Given the description of an element on the screen output the (x, y) to click on. 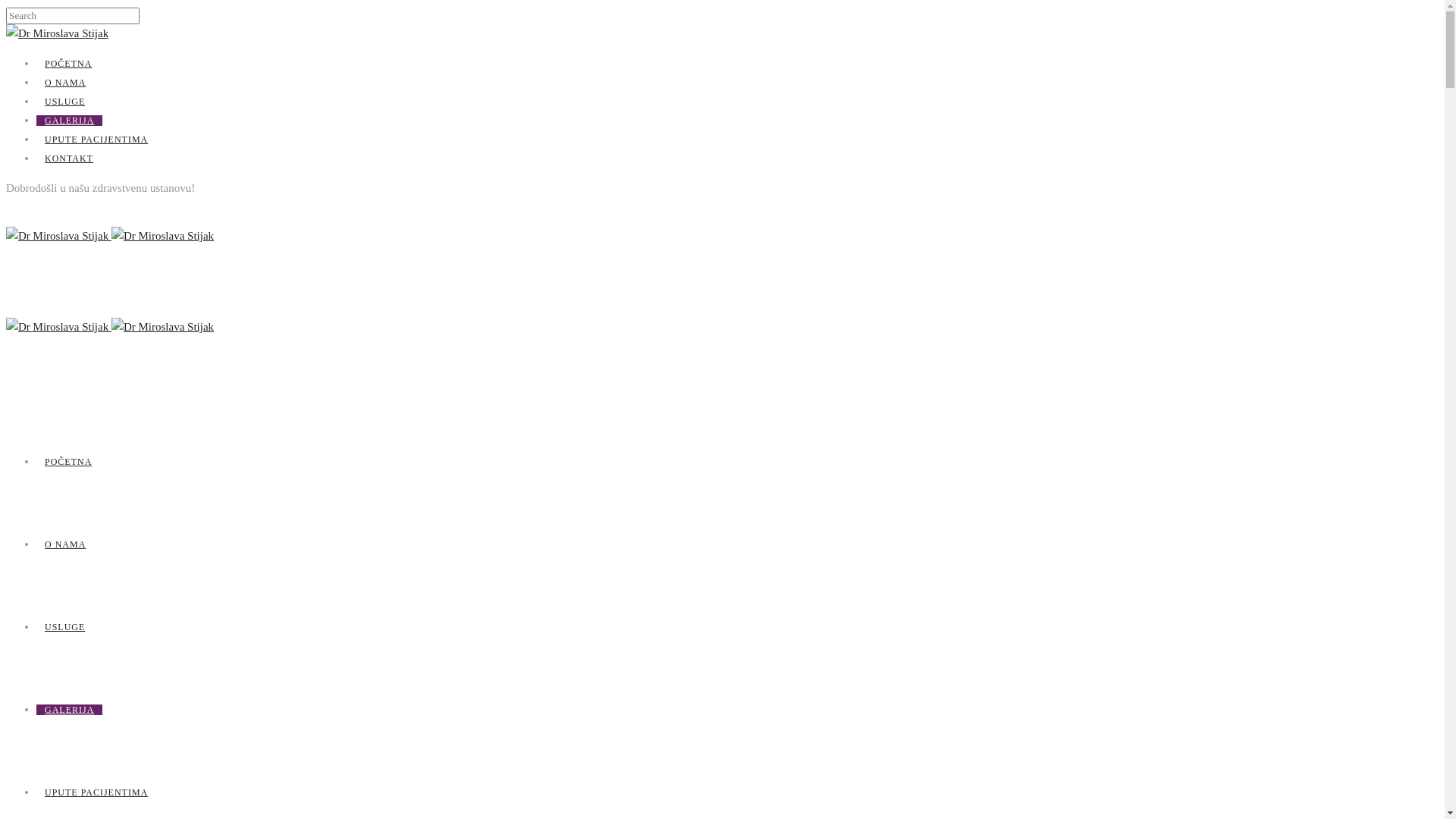
USLUGE Element type: text (64, 626)
GALERIJA Element type: text (69, 709)
O NAMA Element type: text (65, 82)
Dr Miroslava Stijak Element type: hover (57, 33)
Dr Miroslava Stijak Element type: hover (162, 235)
Dr Miroslava Stijak Element type: hover (58, 326)
Dr Miroslava Stijak Element type: hover (162, 326)
GALERIJA Element type: text (69, 120)
UPUTE PACIJENTIMA Element type: text (96, 139)
USLUGE Element type: text (64, 101)
Dr Miroslava Stijak Element type: hover (58, 235)
KONTAKT Element type: text (68, 158)
UPUTE PACIJENTIMA Element type: text (96, 792)
O NAMA Element type: text (65, 544)
